Given the description of an element on the screen output the (x, y) to click on. 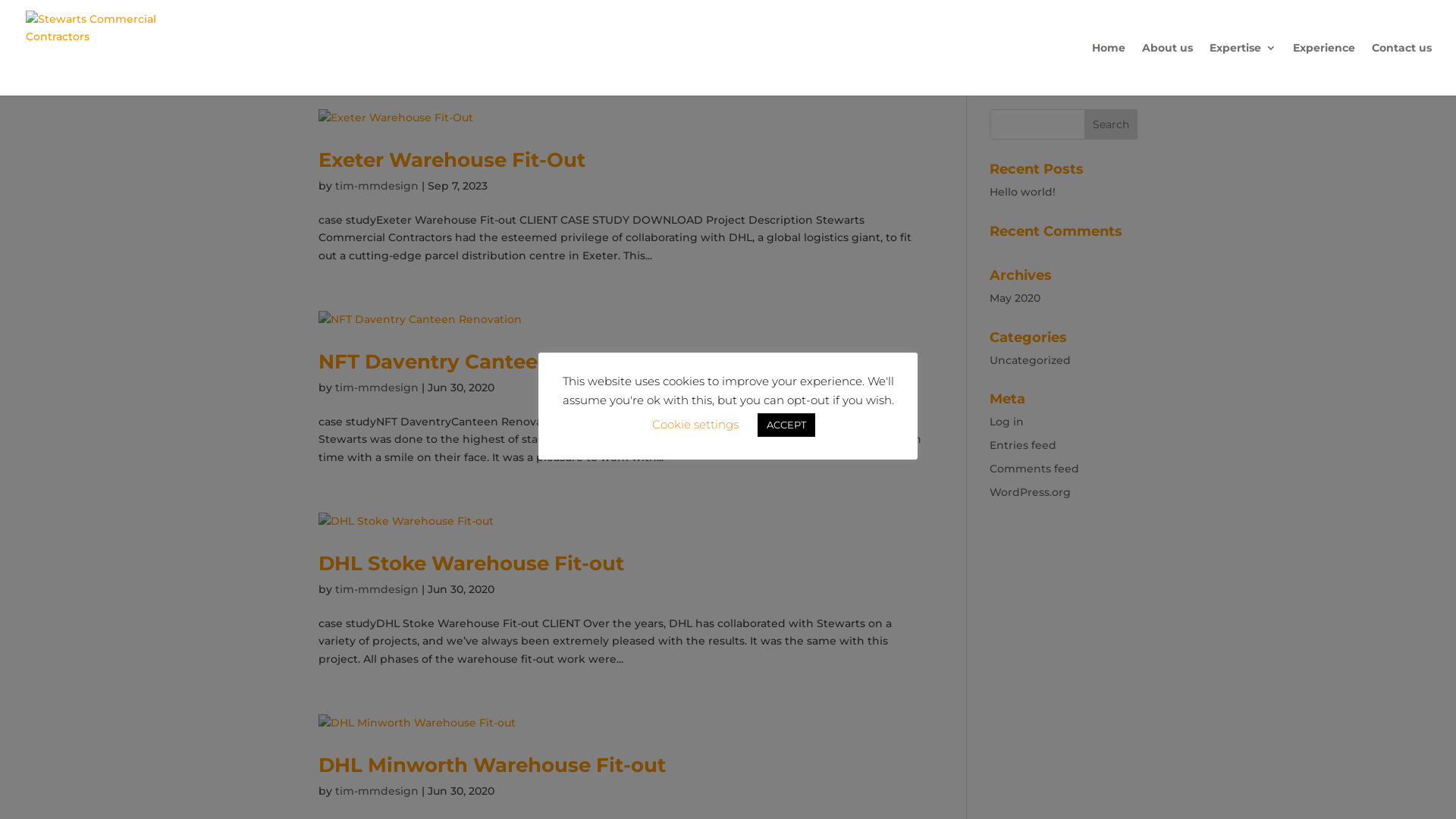
Entries feed Element type: text (1022, 444)
Expertise Element type: text (1242, 68)
Uncategorized Element type: text (1029, 360)
tim-mmdesign Element type: text (376, 185)
Cookie settings Element type: text (695, 424)
DHL Stoke Warehouse Fit-out Element type: text (471, 563)
tim-mmdesign Element type: text (376, 387)
Hello world! Element type: text (1022, 191)
Experience Element type: text (1323, 68)
Log in Element type: text (1006, 421)
May 2020 Element type: text (1014, 297)
DHL Minworth Warehouse Fit-out Element type: text (491, 765)
Comments feed Element type: text (1034, 468)
Search Element type: text (1110, 124)
Exeter Warehouse Fit-Out Element type: text (451, 159)
Contact us Element type: text (1401, 68)
ACCEPT Element type: text (786, 424)
WordPress.org Element type: text (1029, 491)
NFT Daventry Canteen Renovation Element type: text (496, 361)
tim-mmdesign Element type: text (376, 790)
About us Element type: text (1167, 68)
Home Element type: text (1108, 68)
tim-mmdesign Element type: text (376, 589)
